Given the description of an element on the screen output the (x, y) to click on. 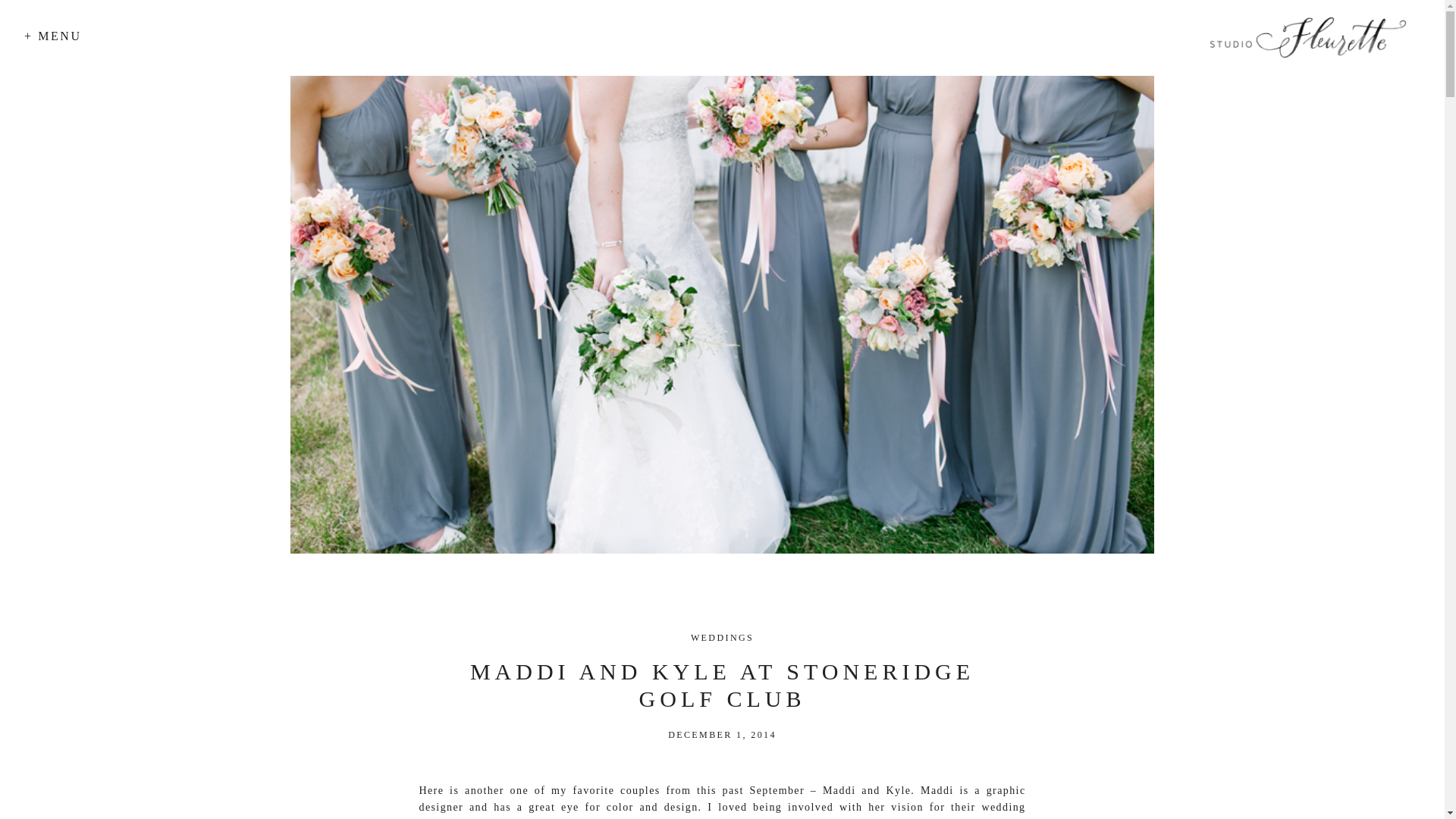
WEDDINGS (722, 637)
